Given the description of an element on the screen output the (x, y) to click on. 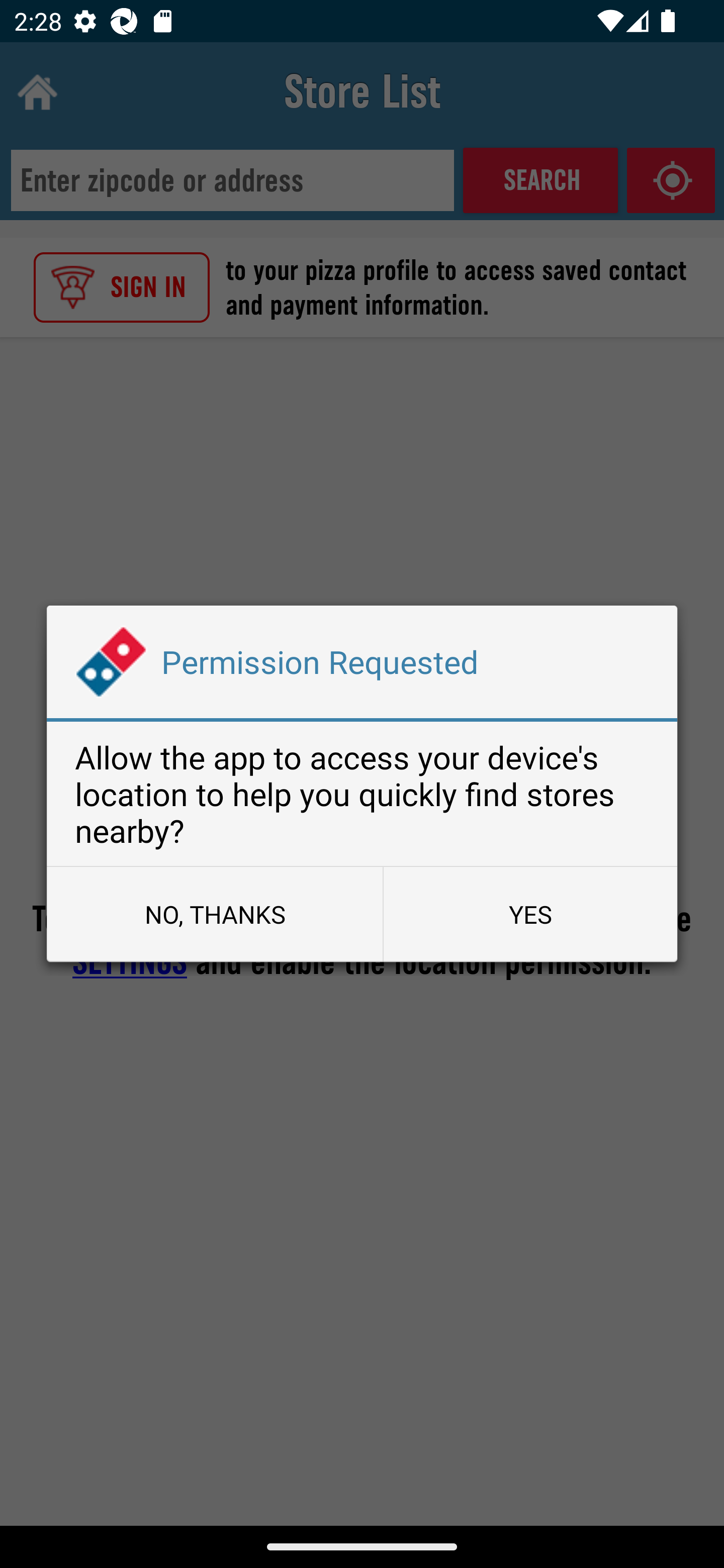
NO, THANKS (214, 914)
YES (529, 914)
